Given the description of an element on the screen output the (x, y) to click on. 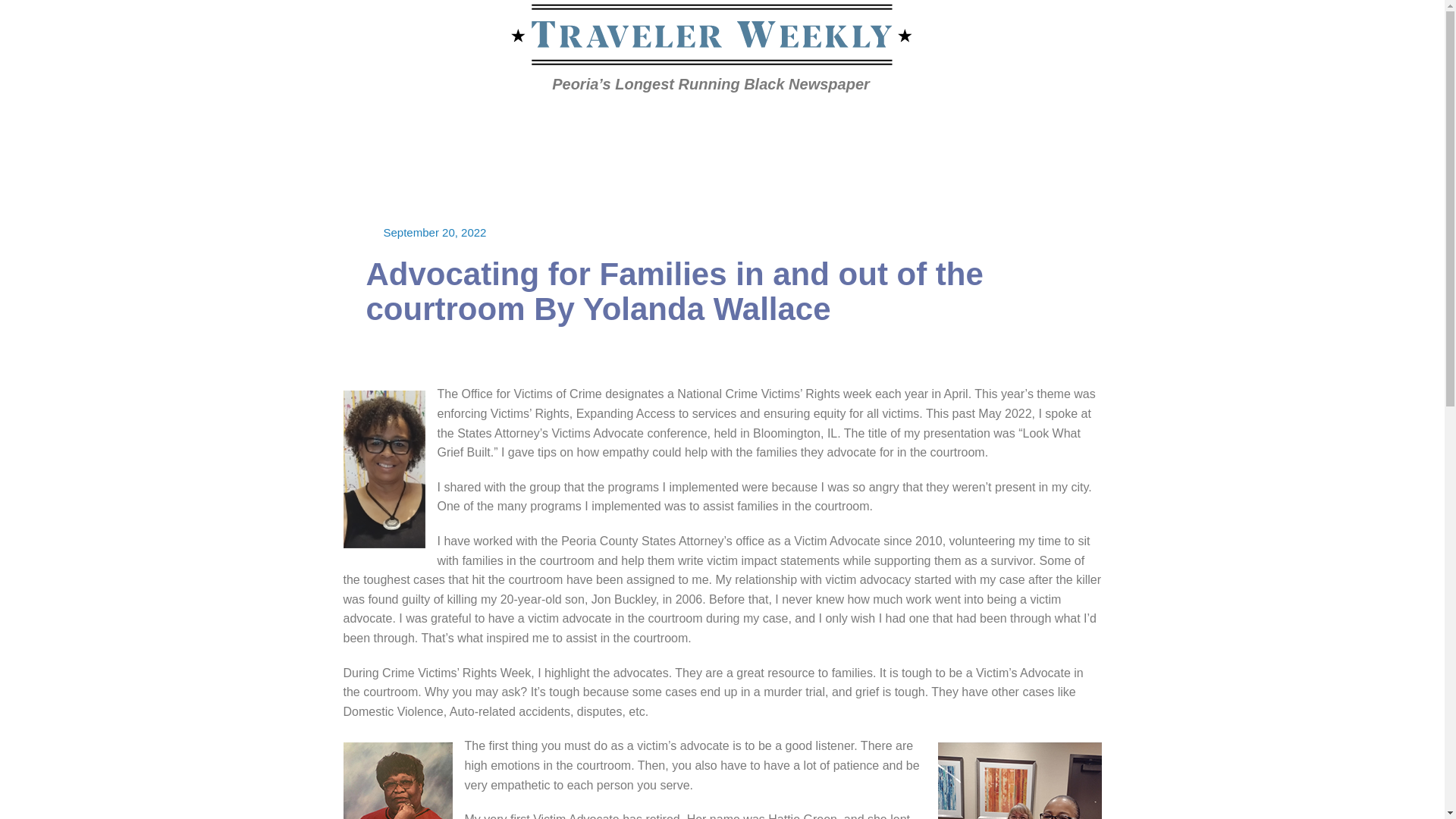
September 20, 2022 (435, 232)
Home (284, 123)
20220901 (331, 123)
20220901 (331, 123)
Next (1135, 123)
Home (284, 123)
Previous (1059, 123)
